Given the description of an element on the screen output the (x, y) to click on. 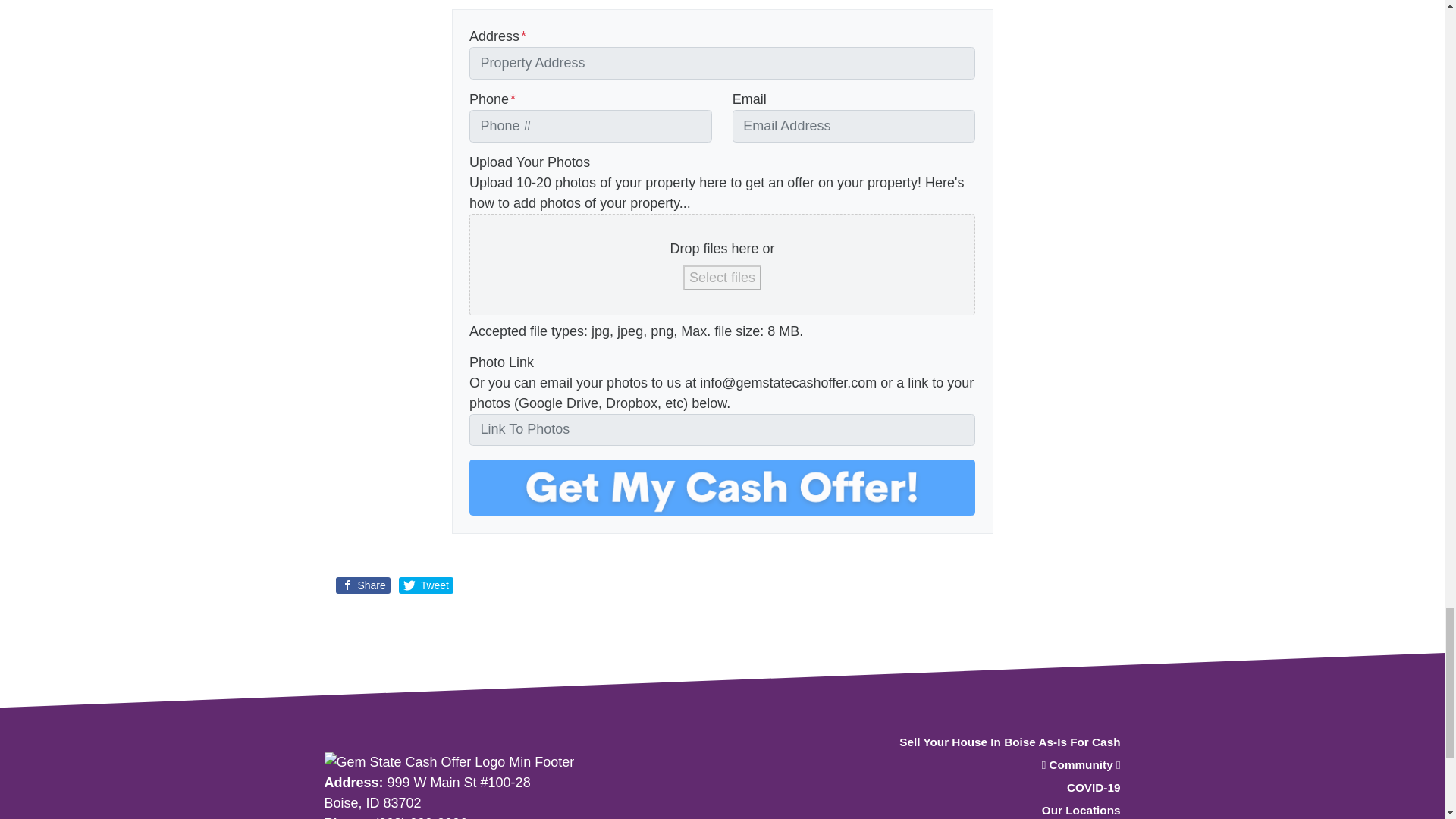
Share on Facebook (362, 585)
Our Locations (995, 809)
Share (362, 585)
COVID-19 (995, 788)
Share on Twitter (425, 585)
Tweet (425, 585)
Sell Your House In Boise As-Is For Cash (995, 743)
Select files (721, 277)
